Given the description of an element on the screen output the (x, y) to click on. 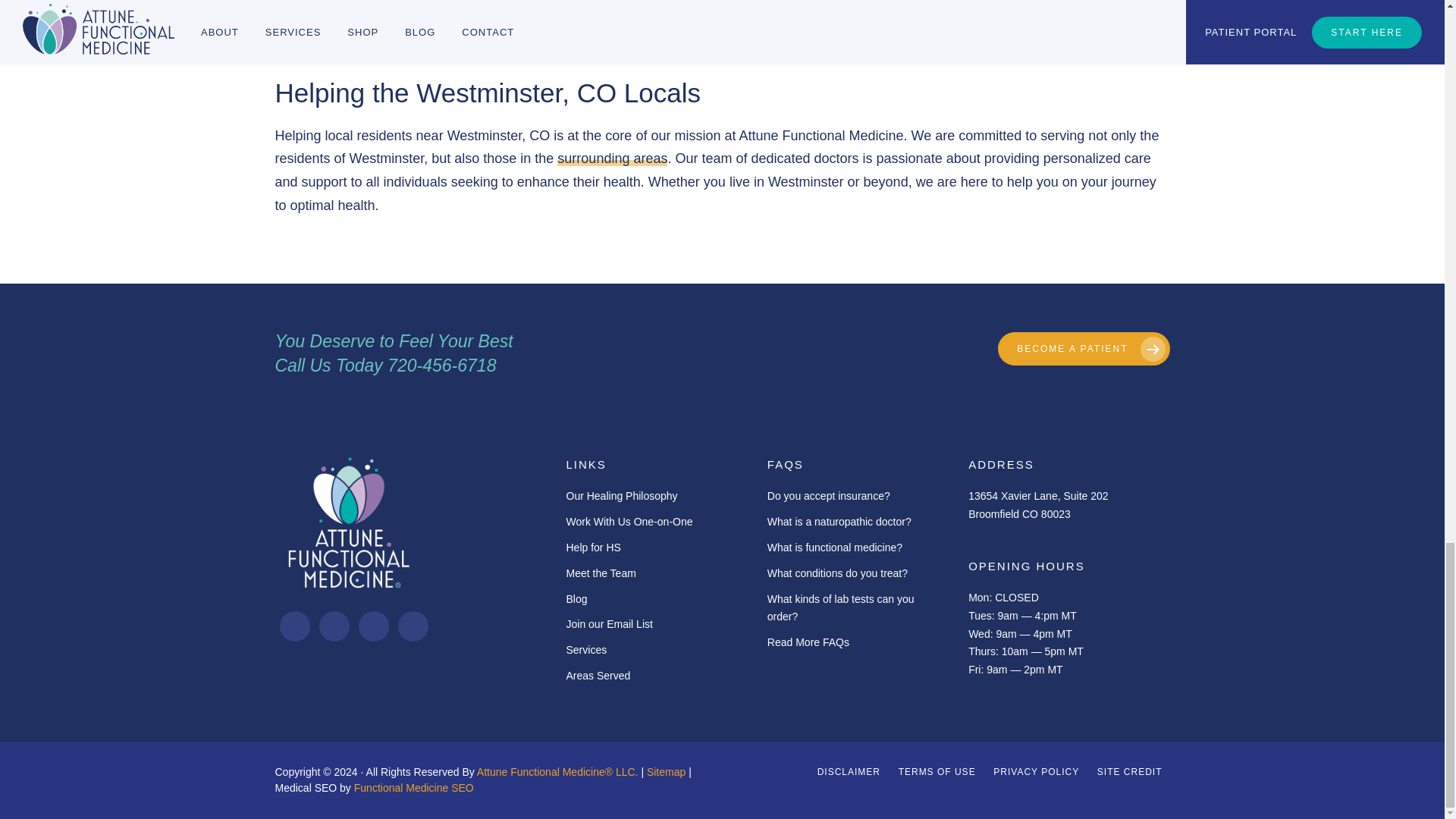
YouTube (412, 626)
Pinterest (372, 626)
Instagram (333, 626)
Facebook (293, 626)
